Given the description of an element on the screen output the (x, y) to click on. 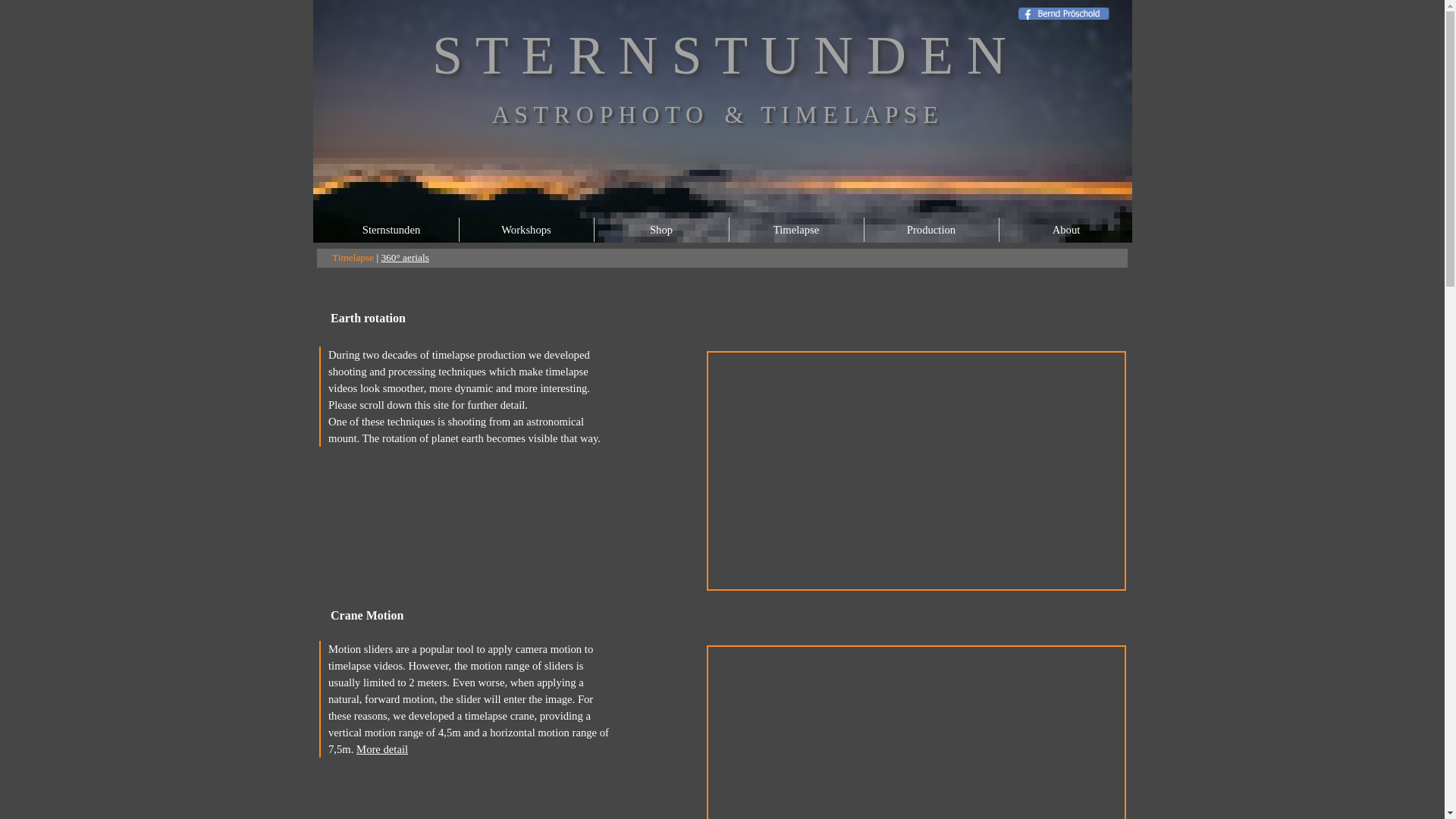
S T E R N S T U N D E N (719, 55)
Production (930, 229)
T I M E L A P S E (848, 113)
Workshops (526, 229)
A S T R O P H O T O (597, 113)
Sternstunden (390, 229)
About (1066, 229)
Shop (660, 229)
Timelapse (795, 229)
